Given the description of an element on the screen output the (x, y) to click on. 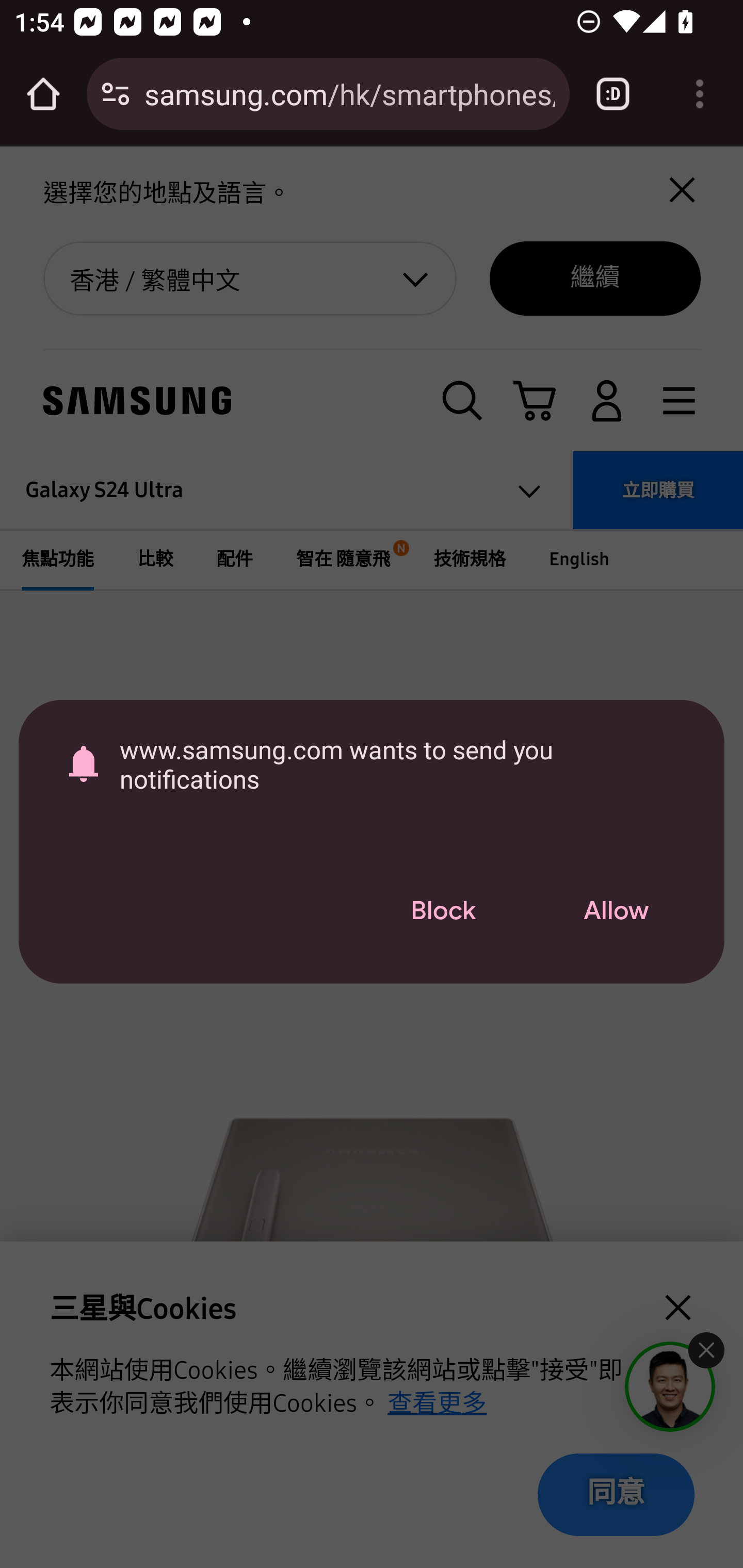
Open the home page (43, 93)
Connection is secure (115, 93)
Switch or close tabs (612, 93)
Customize and control Google Chrome (699, 93)
Block (442, 911)
Allow (615, 911)
